Given the description of an element on the screen output the (x, y) to click on. 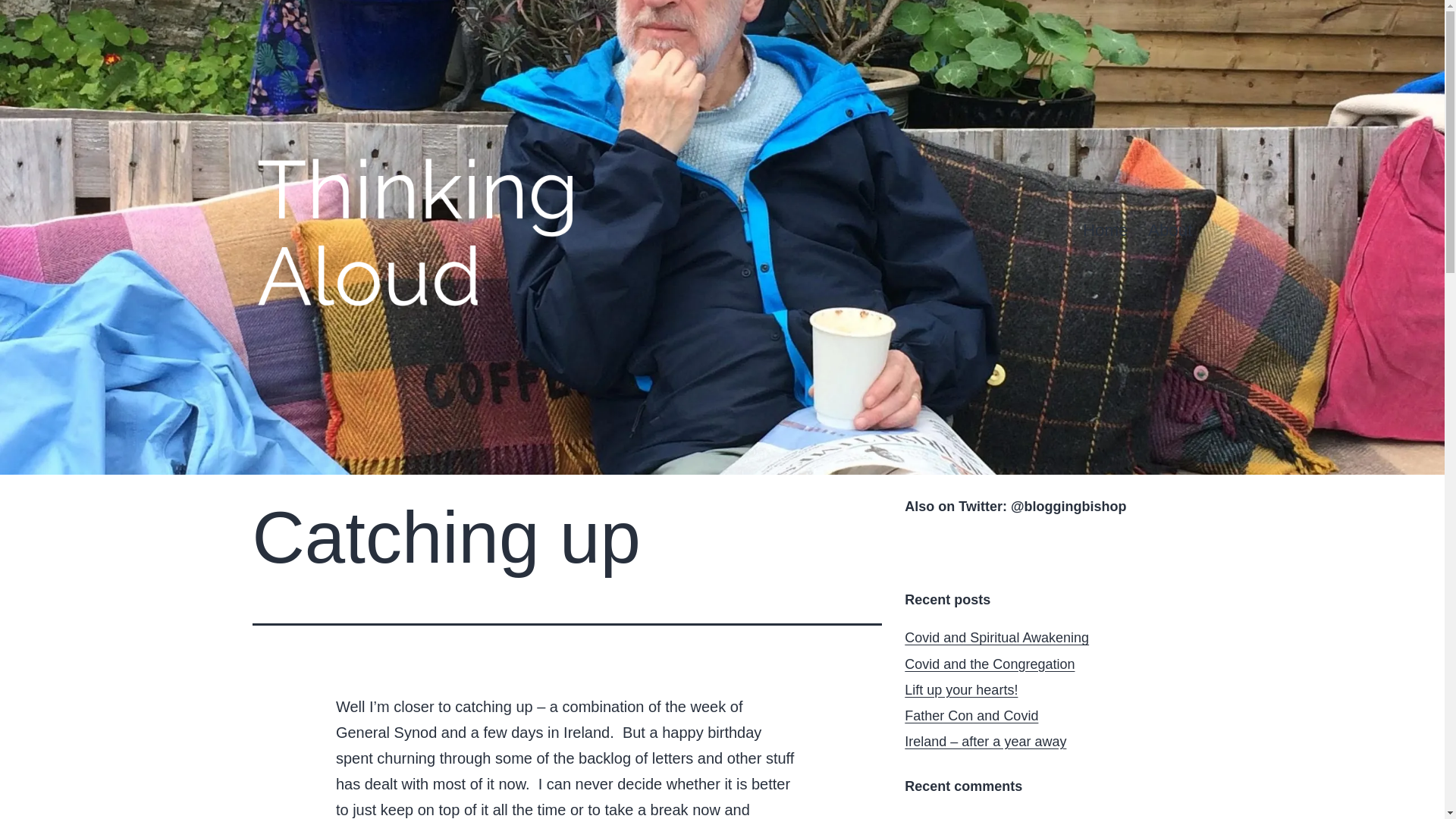
David (921, 818)
Lift up your hearts! (960, 689)
Twitter (922, 549)
Father Con and Covid (971, 715)
Home (1105, 230)
Covid and Spiritual Awakening (996, 637)
Kitchen table pew (1016, 818)
About (1170, 230)
Covid and the Congregation (989, 663)
